Given the description of an element on the screen output the (x, y) to click on. 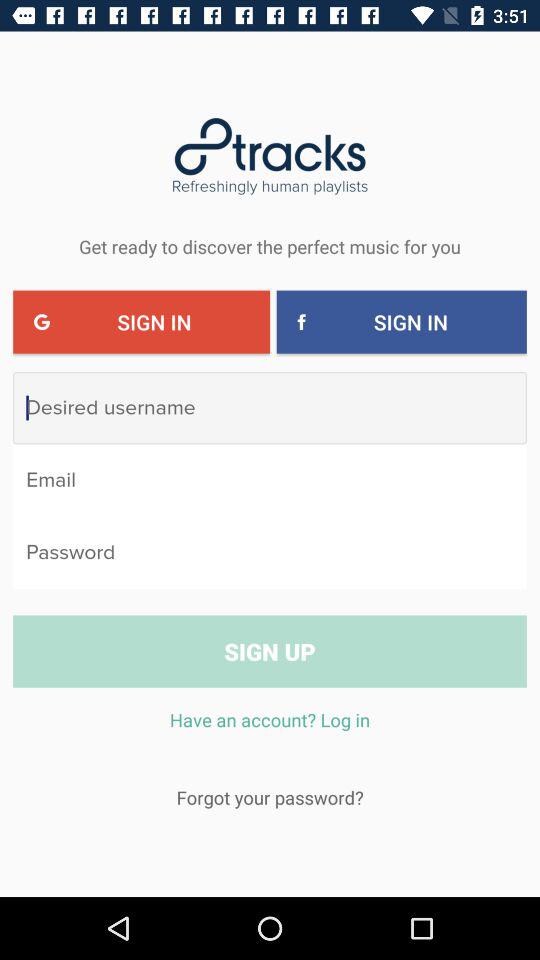
choose icon above the forgot your password? (269, 729)
